Given the description of an element on the screen output the (x, y) to click on. 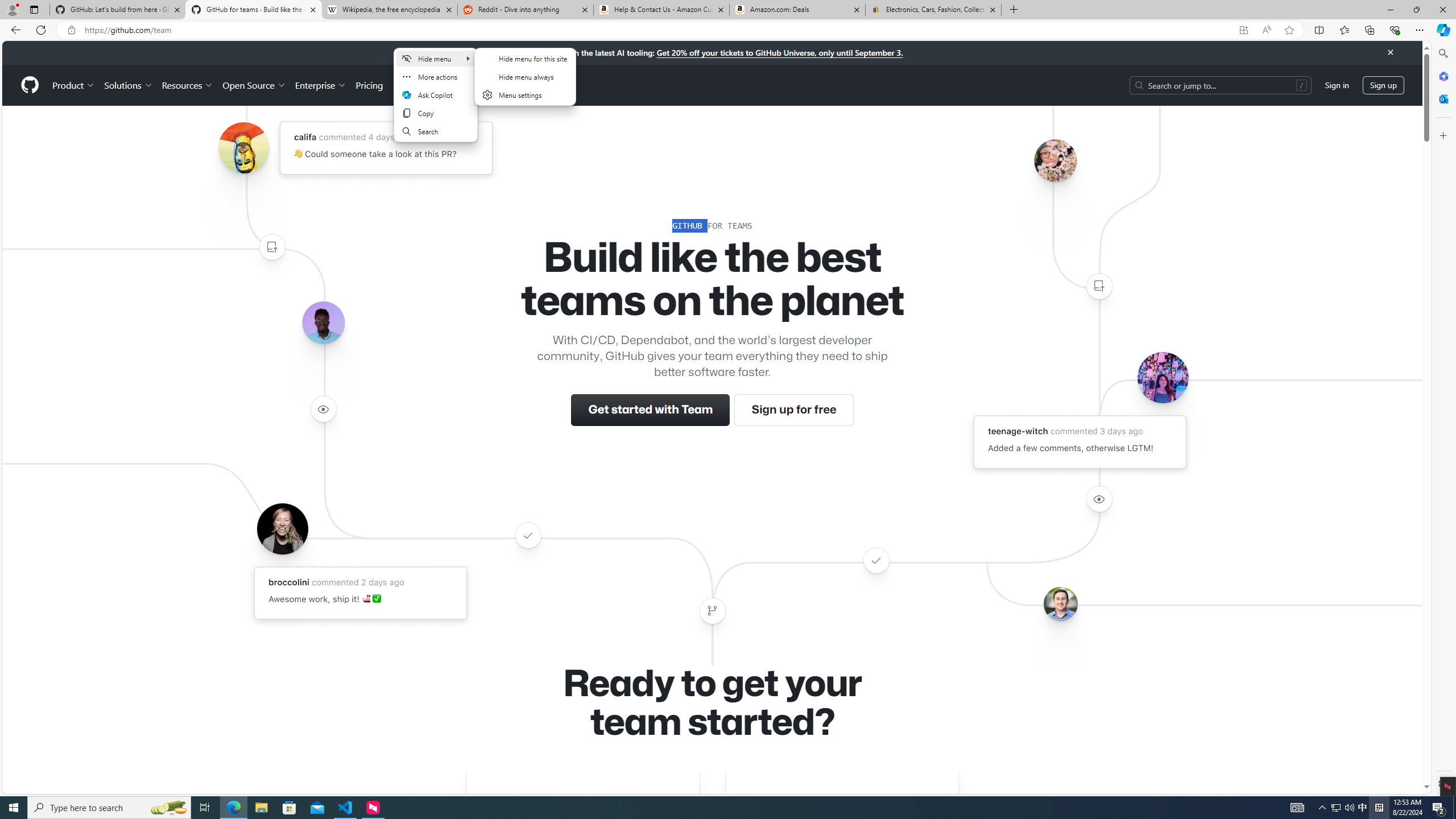
Enterprise (319, 84)
More actions (435, 76)
Class: color-fg-muted width-full (711, 610)
Hide menu for this site (524, 58)
Avatar of the user broccolini (282, 528)
